Given the description of an element on the screen output the (x, y) to click on. 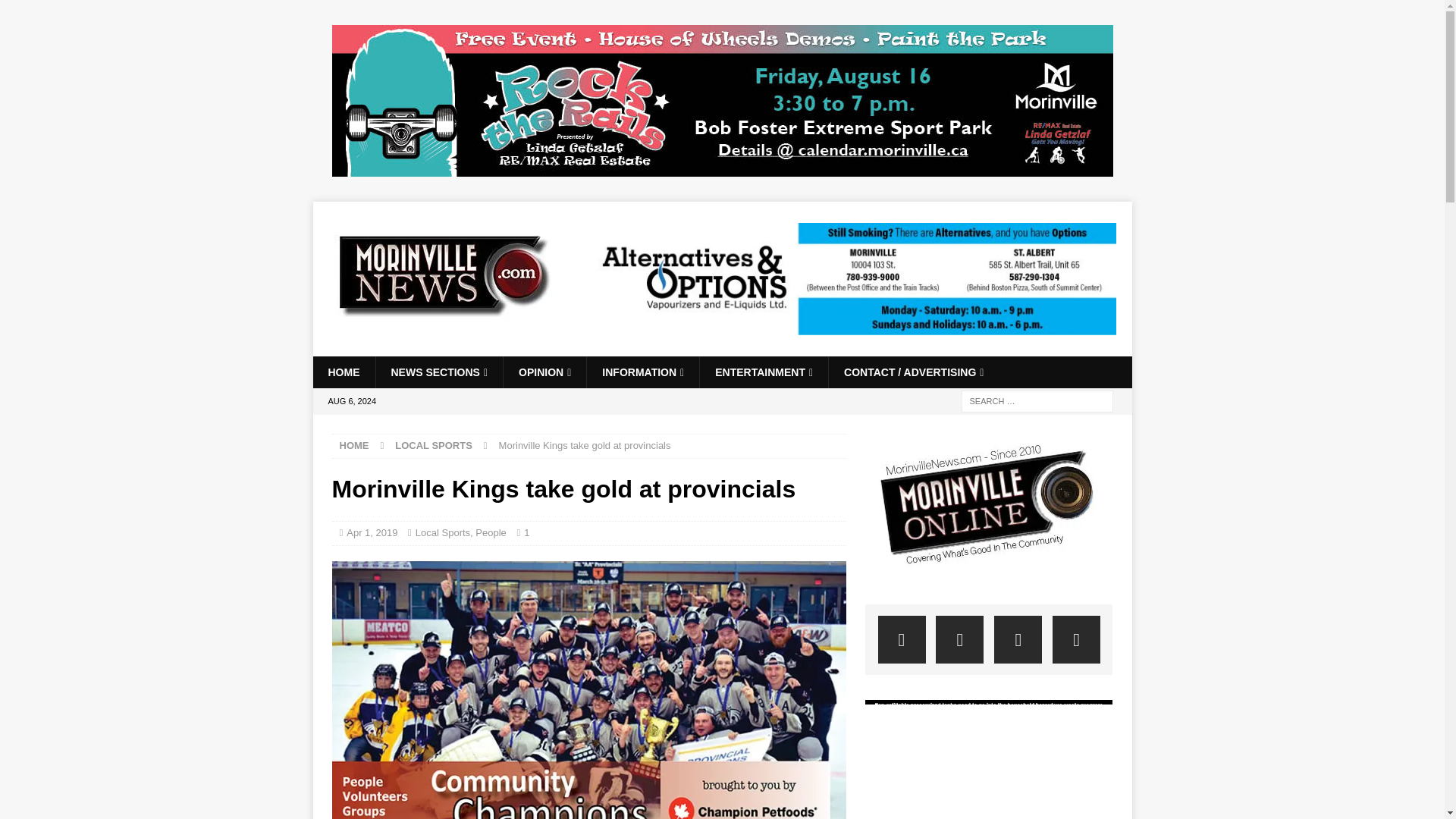
HOME (343, 372)
2-CommunityChampions (588, 690)
Apr 1, 2019 (371, 532)
Search (56, 11)
NEWS SECTIONS (438, 372)
HOME (354, 445)
Local Sports (442, 532)
LOCAL SPORTS (432, 445)
INFORMATION (642, 372)
ENTERTAINMENT (763, 372)
